Given the description of an element on the screen output the (x, y) to click on. 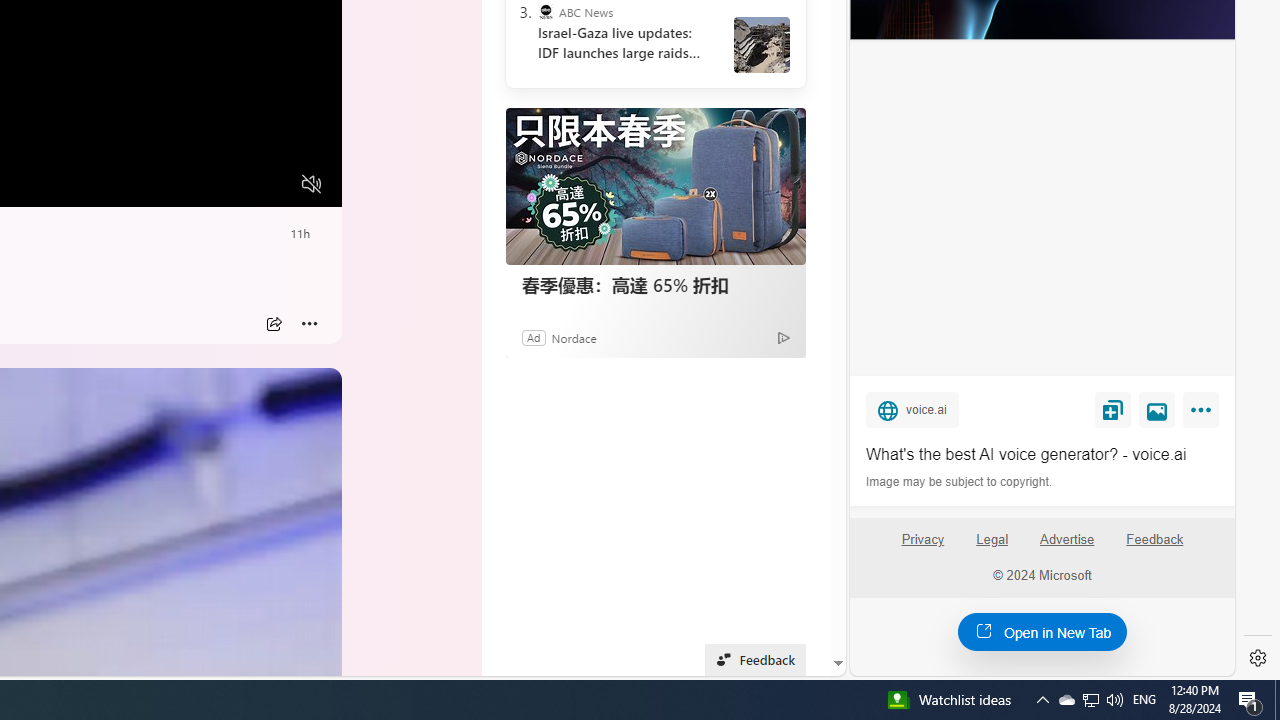
Unmute (311, 184)
Fullscreen (273, 185)
ABC News (545, 12)
